Given the description of an element on the screen output the (x, y) to click on. 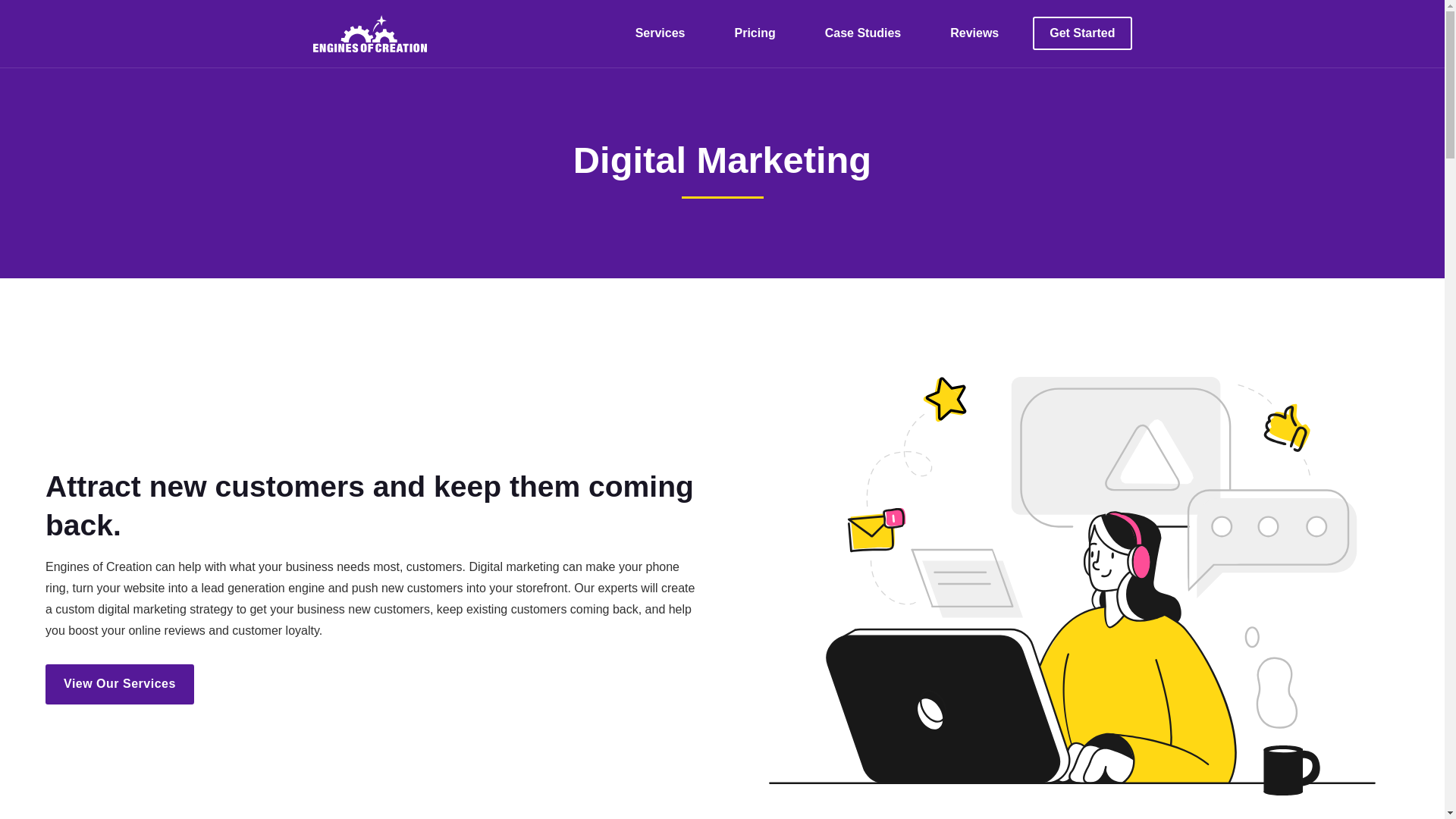
Services (660, 33)
Reviews (973, 33)
View Our Services (119, 684)
Pricing (754, 33)
Case Studies (862, 33)
Get Started (1081, 32)
